Given the description of an element on the screen output the (x, y) to click on. 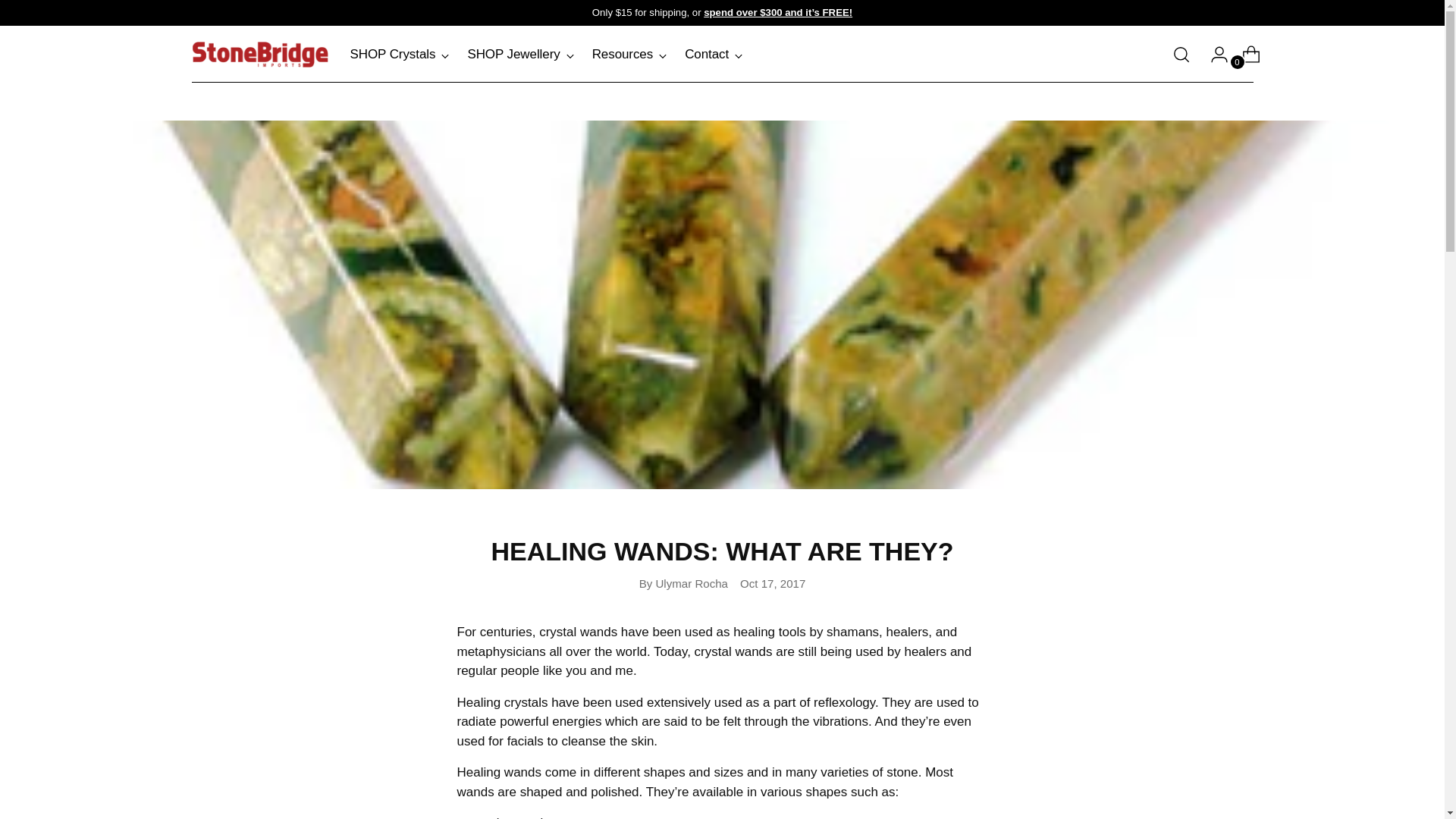
SHOP Jewellery (520, 54)
SHOP Crystals (399, 54)
Shipping Policy (545, 54)
